Given the description of an element on the screen output the (x, y) to click on. 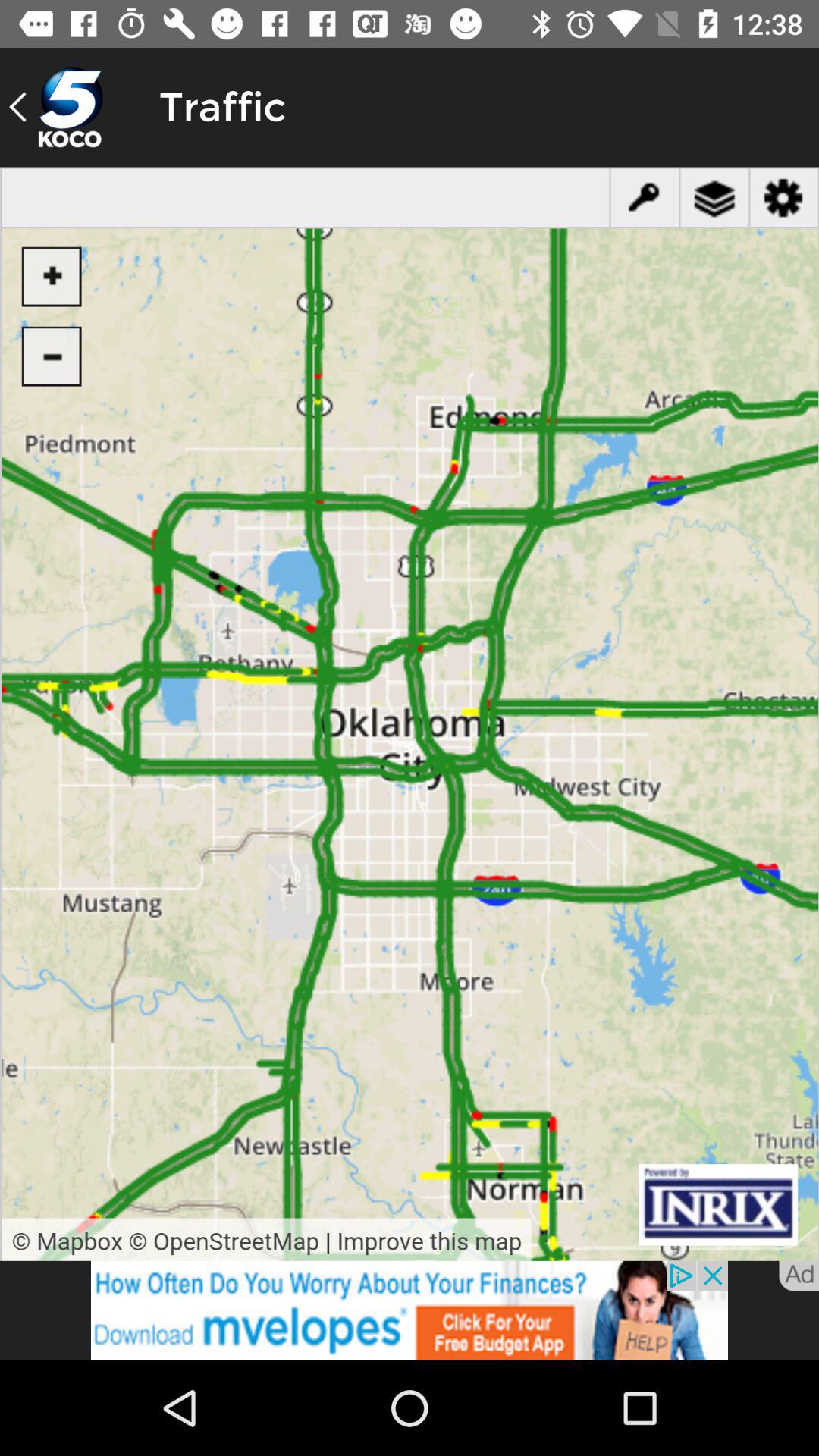
open advertisement (409, 1310)
